Given the description of an element on the screen output the (x, y) to click on. 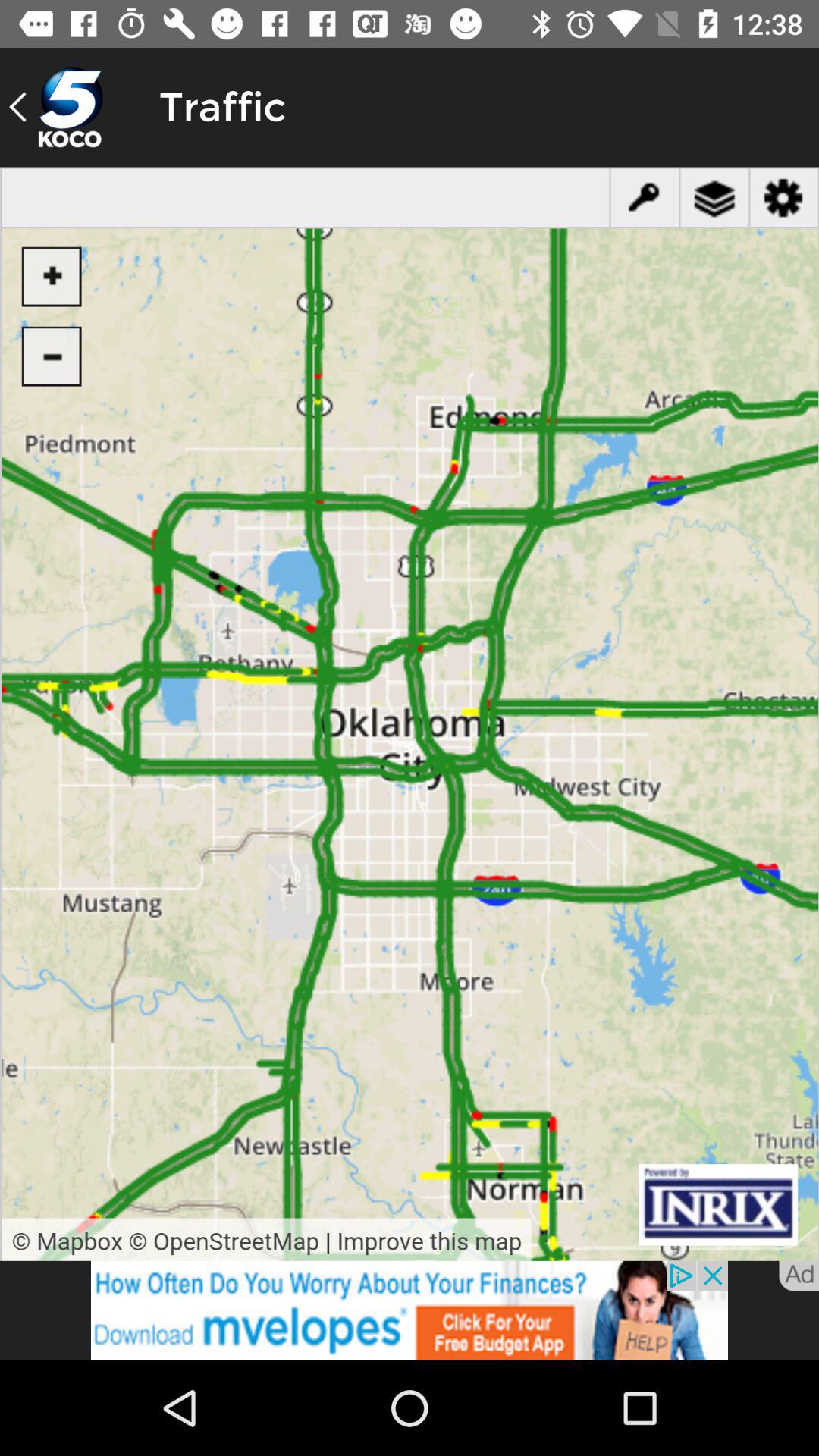
open advertisement (409, 1310)
